Given the description of an element on the screen output the (x, y) to click on. 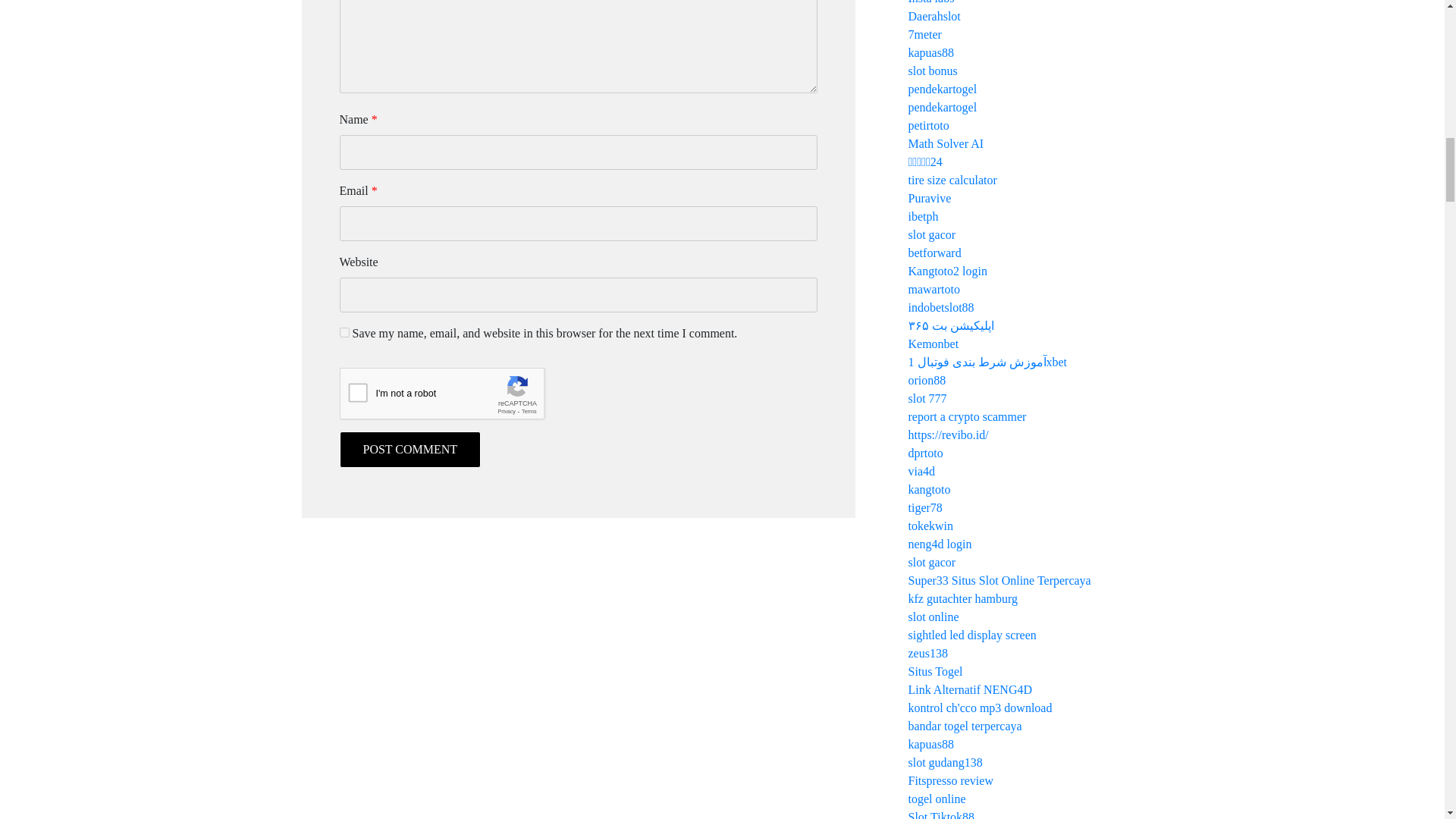
Post Comment (410, 449)
Post Comment (410, 449)
reCAPTCHA (454, 396)
yes (344, 332)
